Given the description of an element on the screen output the (x, y) to click on. 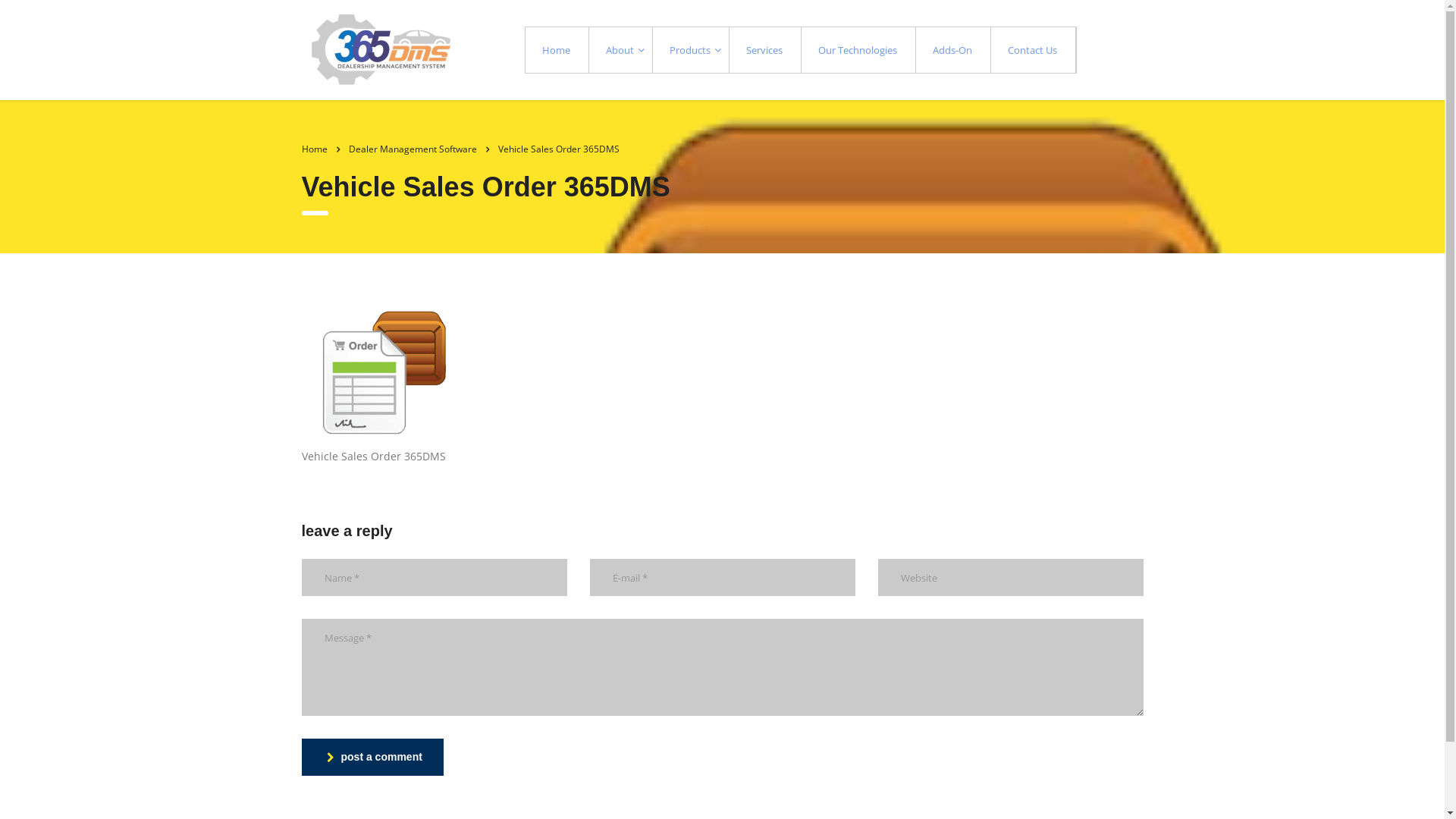
Services Element type: text (765, 50)
post a comment Element type: text (372, 756)
Our Technologies Element type: text (858, 50)
Dealer Management Software Element type: text (412, 148)
Home Element type: text (314, 148)
Contact Us Element type: text (1033, 50)
Products Element type: text (690, 50)
Adds-On Element type: text (953, 50)
Home Element type: text (557, 50)
About Element type: text (620, 50)
